Given the description of an element on the screen output the (x, y) to click on. 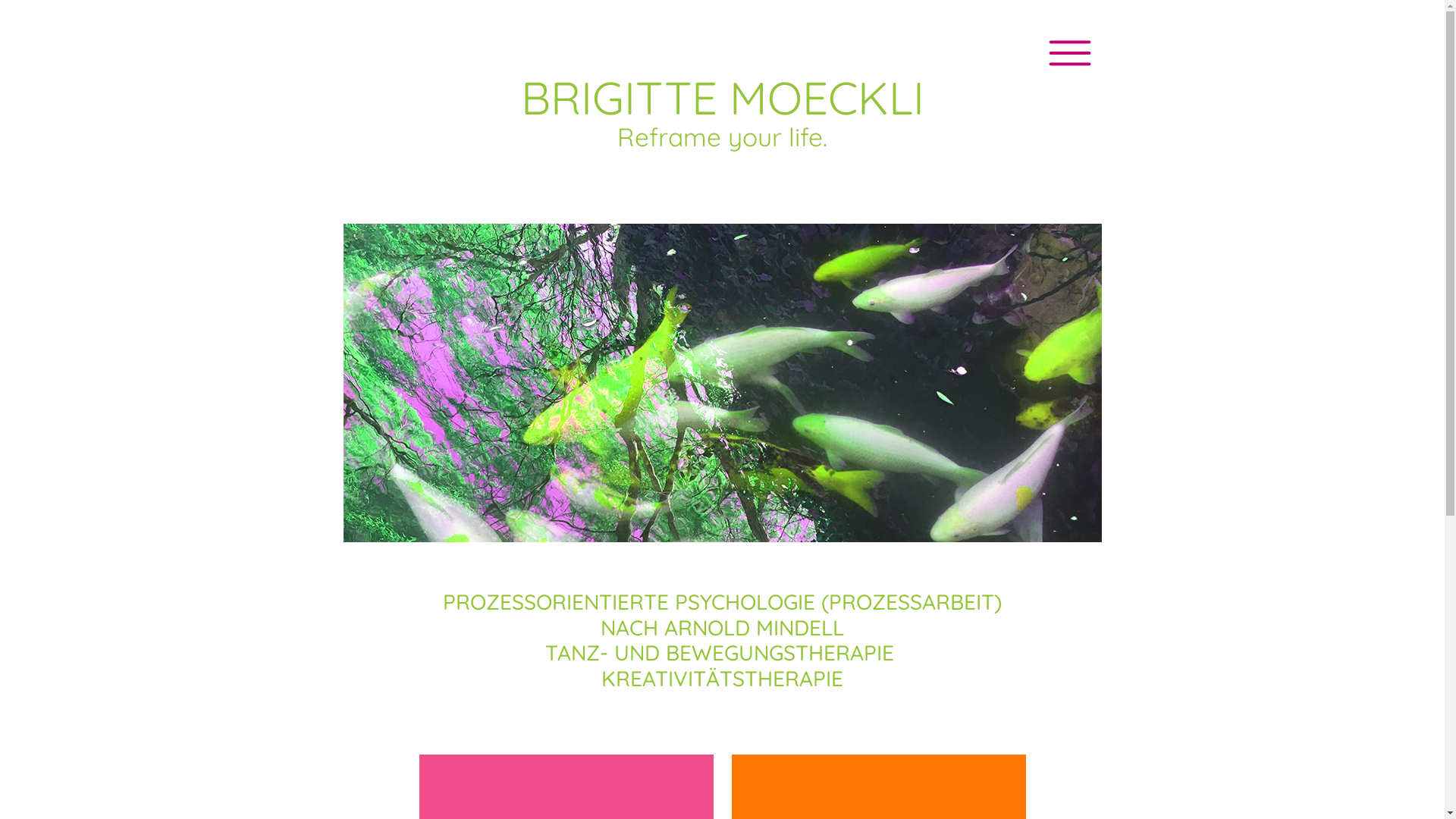
BRIGITTE MOECKLI Element type: text (721, 97)
